Given the description of an element on the screen output the (x, y) to click on. 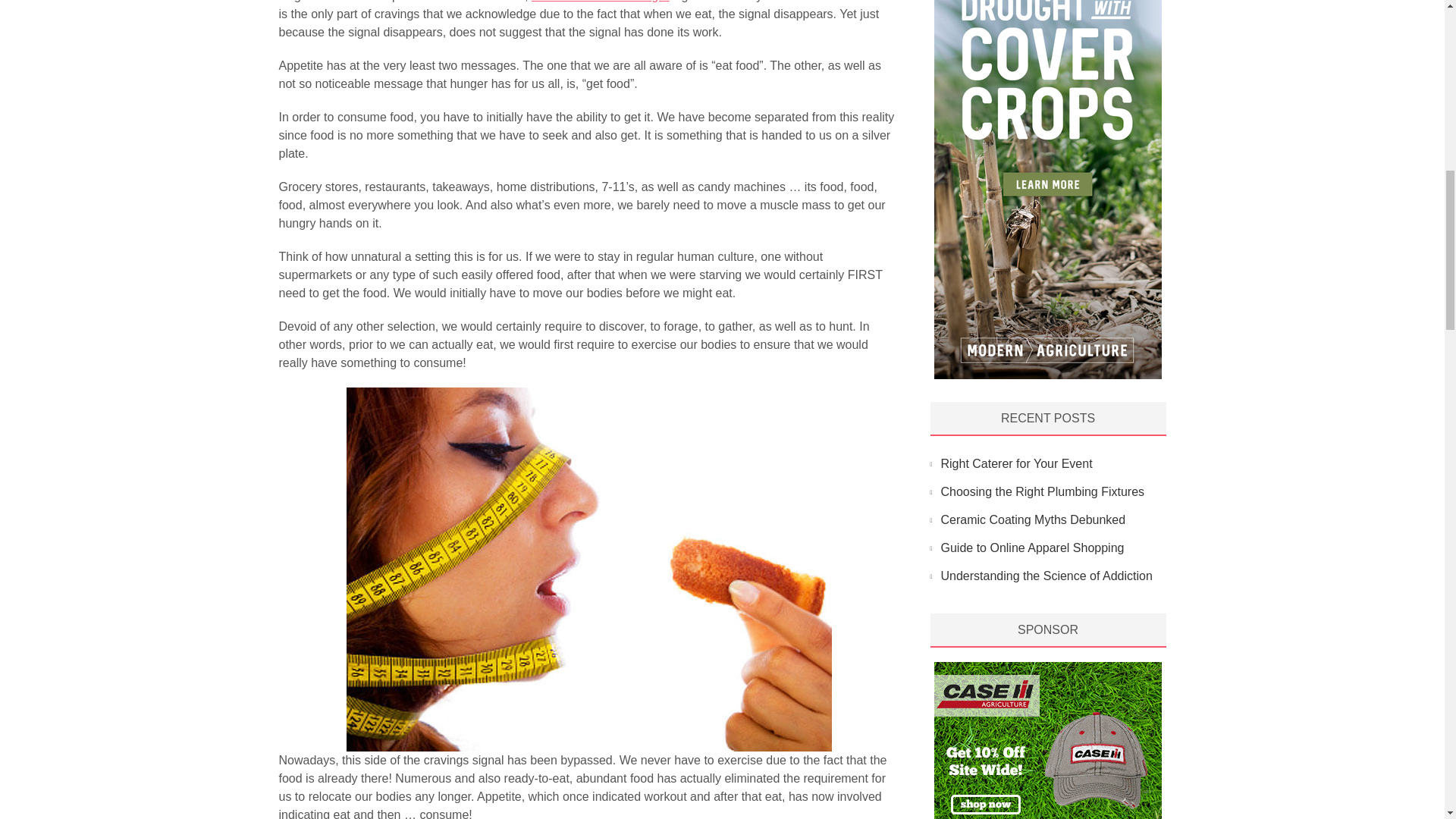
Ceramic Coating Myths Debunked (1032, 519)
Understanding the Science of Addiction (1045, 575)
Choosing the Right Plumbing Fixtures (1042, 491)
Right Caterer for Your Event (1016, 463)
Guide to Online Apparel Shopping (1032, 547)
the function of the hunger (599, 1)
